Given the description of an element on the screen output the (x, y) to click on. 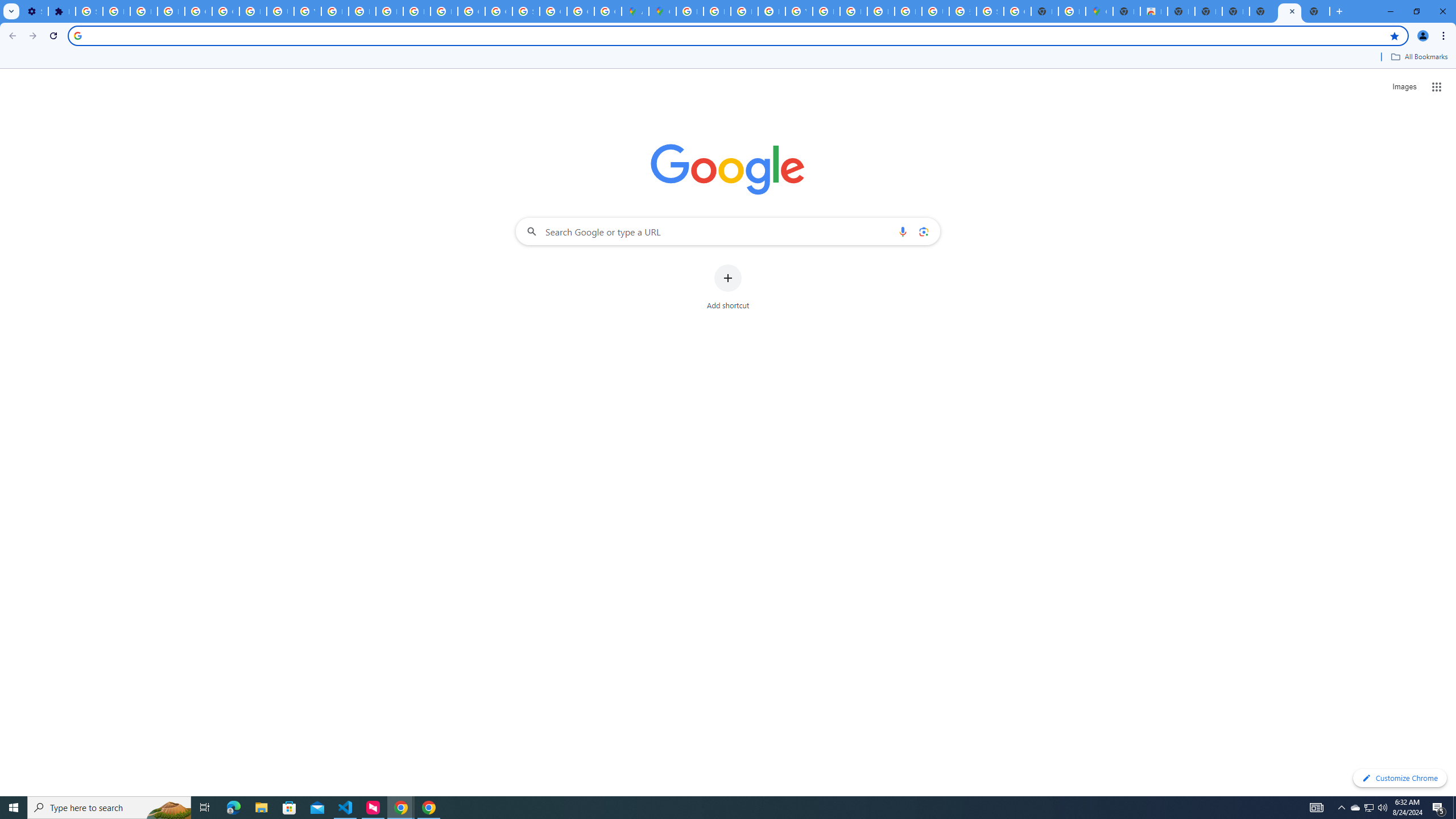
YouTube (799, 11)
Search for Images  (1403, 87)
Search by image (922, 230)
Sign in - Google Accounts (525, 11)
New Tab (1316, 11)
Search Google or type a URL (727, 230)
Privacy Help Center - Policies Help (743, 11)
